Given the description of an element on the screen output the (x, y) to click on. 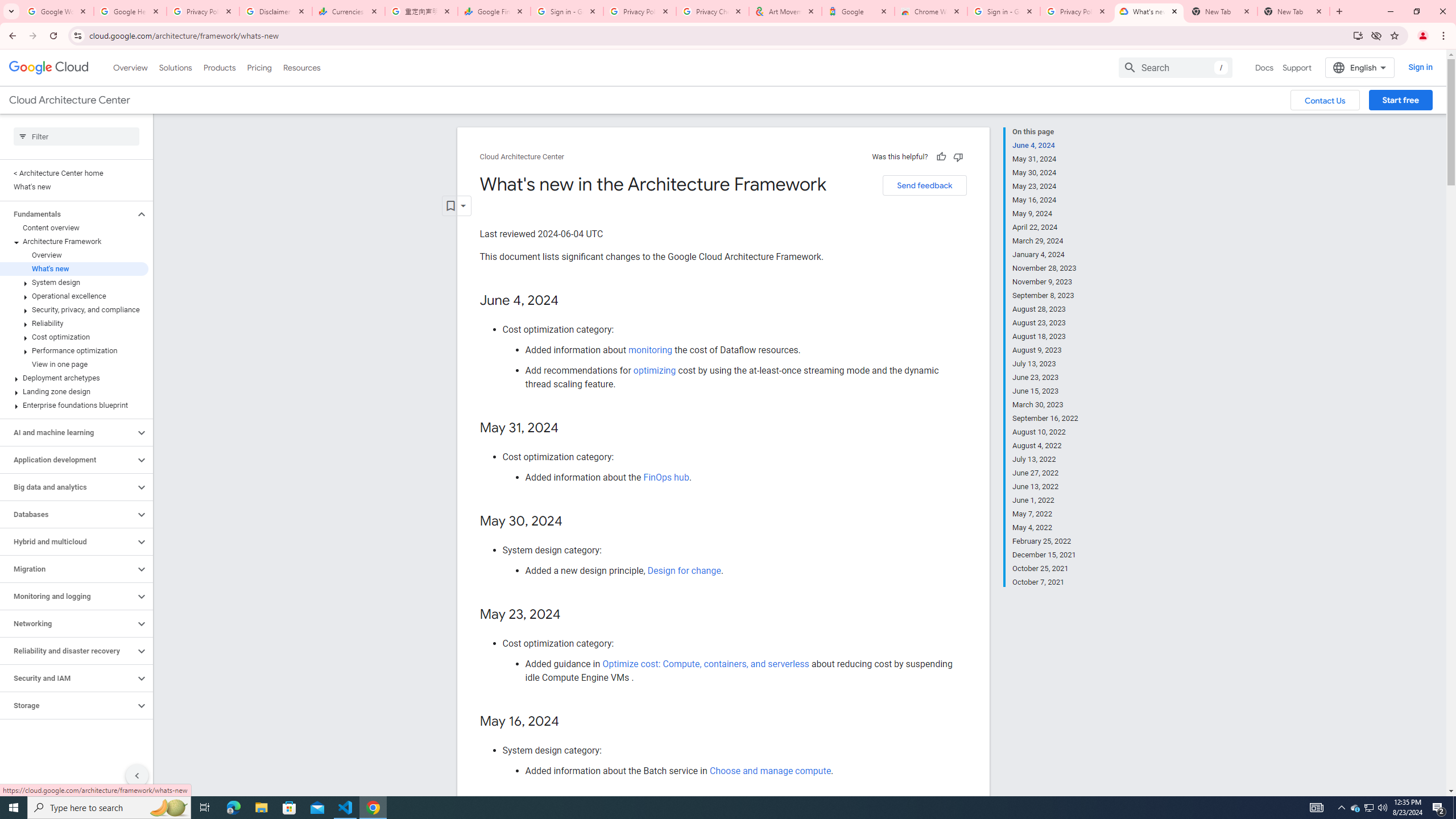
Optimize cost: Compute, containers, and serverless (705, 663)
Copy link to this section: June 4, 2024 (570, 300)
May 4, 2022 (1044, 527)
Not helpful (957, 156)
August 9, 2023 (1044, 350)
June 23, 2023 (1044, 377)
September 16, 2022 (1044, 418)
February 25, 2022 (1044, 540)
August 23, 2023 (1044, 323)
